Given the description of an element on the screen output the (x, y) to click on. 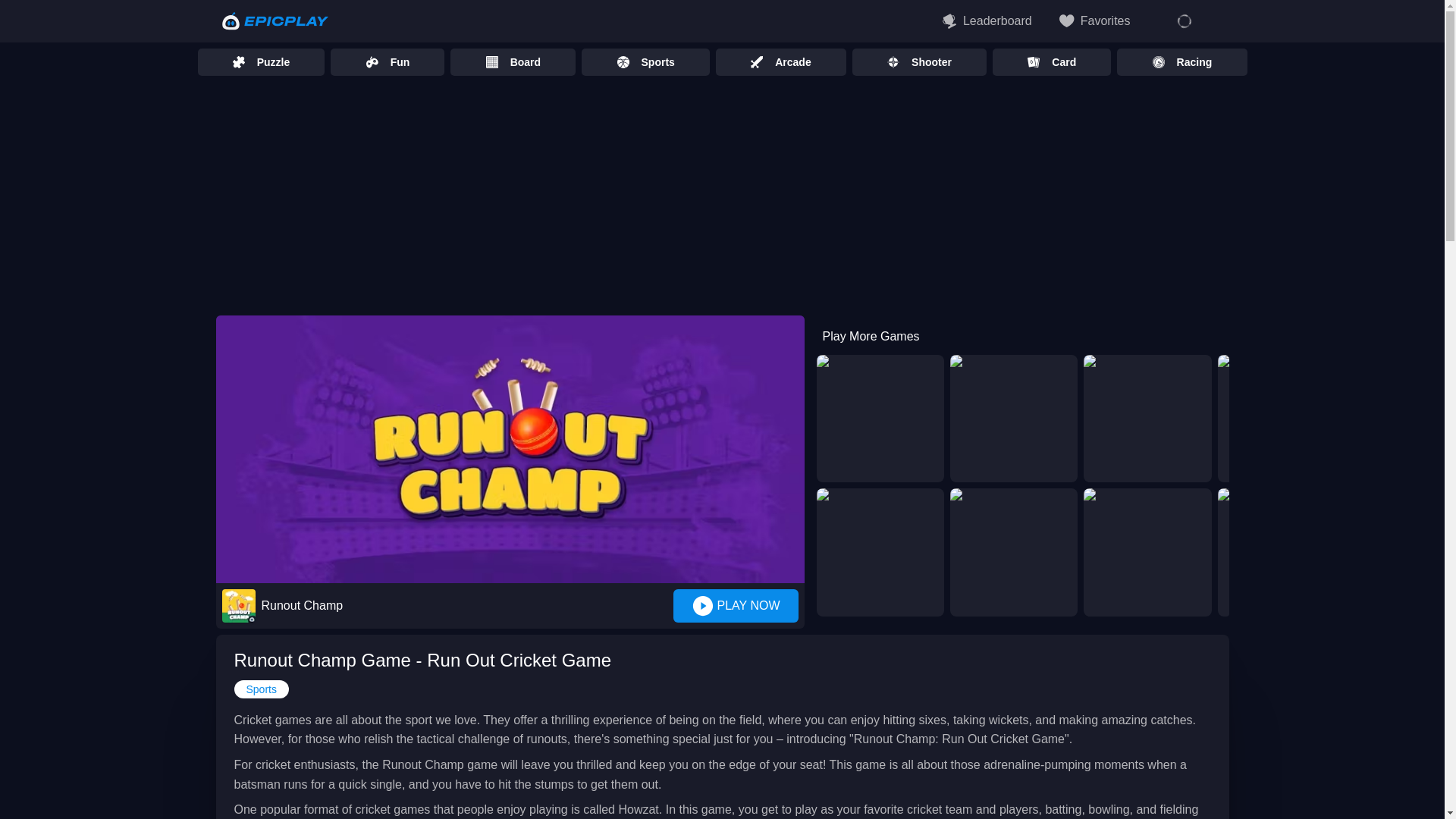
Arcade (780, 62)
Board (512, 62)
Racing (1181, 62)
Shooter (919, 62)
Puzzle (260, 62)
PLAY NOW (734, 605)
Card (1051, 62)
EpicPlay (274, 21)
Fun (387, 62)
Favorites (1094, 20)
Leaderboard (986, 20)
Sports (721, 62)
